Given the description of an element on the screen output the (x, y) to click on. 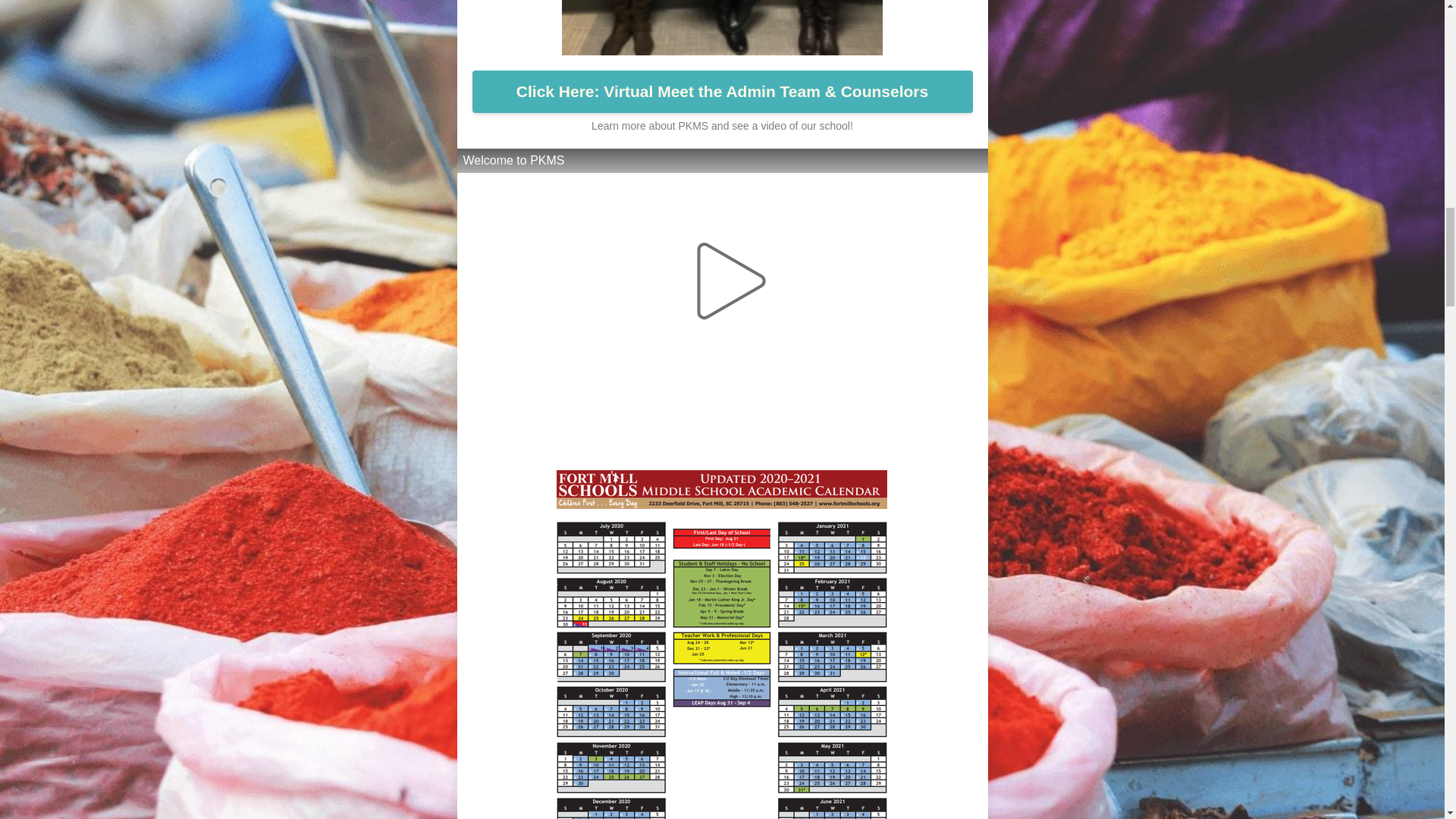
FMSD (593, 441)
Calendar (780, 441)
Academic (679, 441)
20-21 (855, 441)
